Given the description of an element on the screen output the (x, y) to click on. 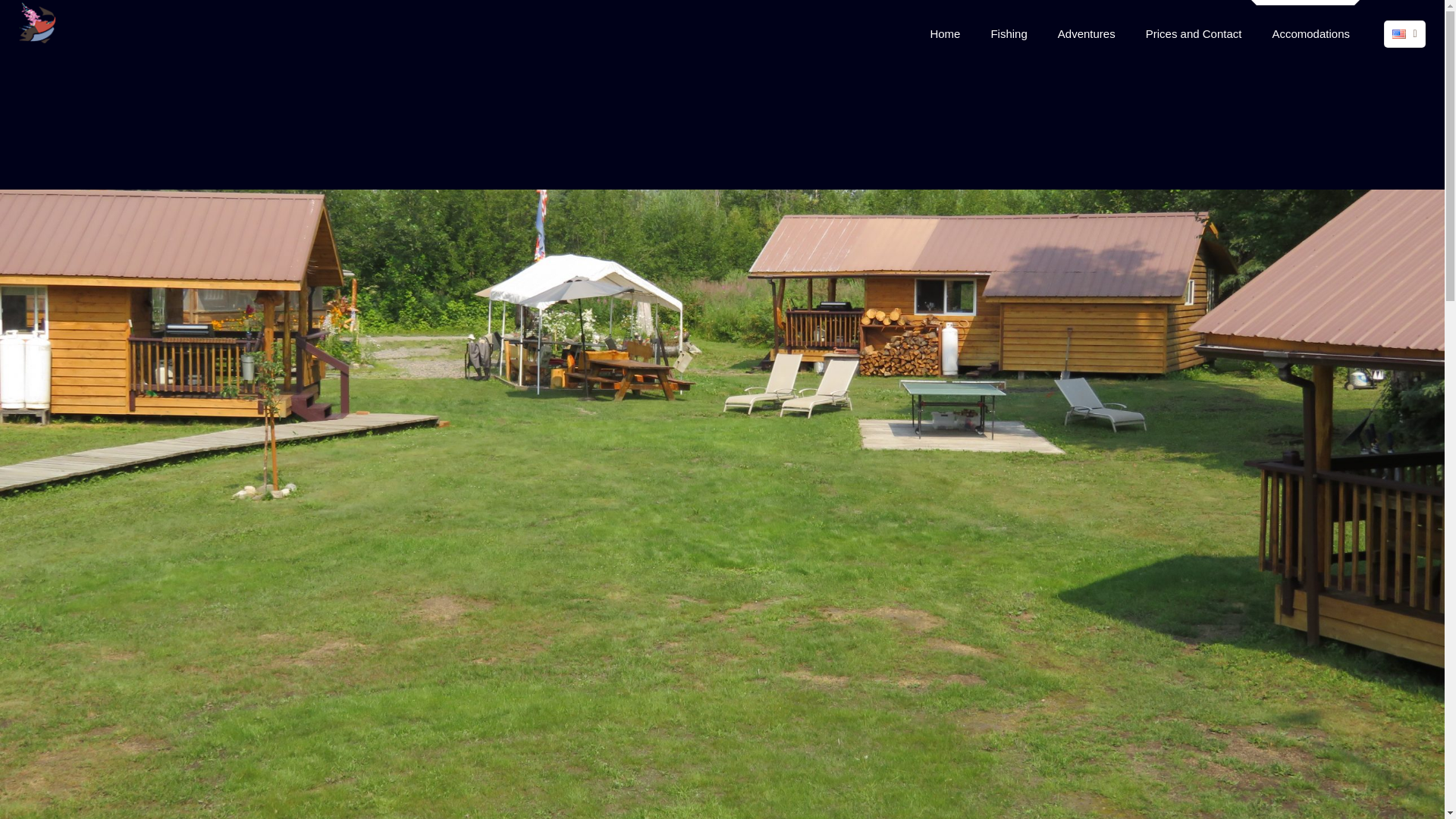
Prices and Contact (1194, 33)
Adventures (1086, 33)
Accomodations (1310, 33)
Fishing (1008, 33)
Fireweed Lodge Alaska (37, 22)
